Given the description of an element on the screen output the (x, y) to click on. 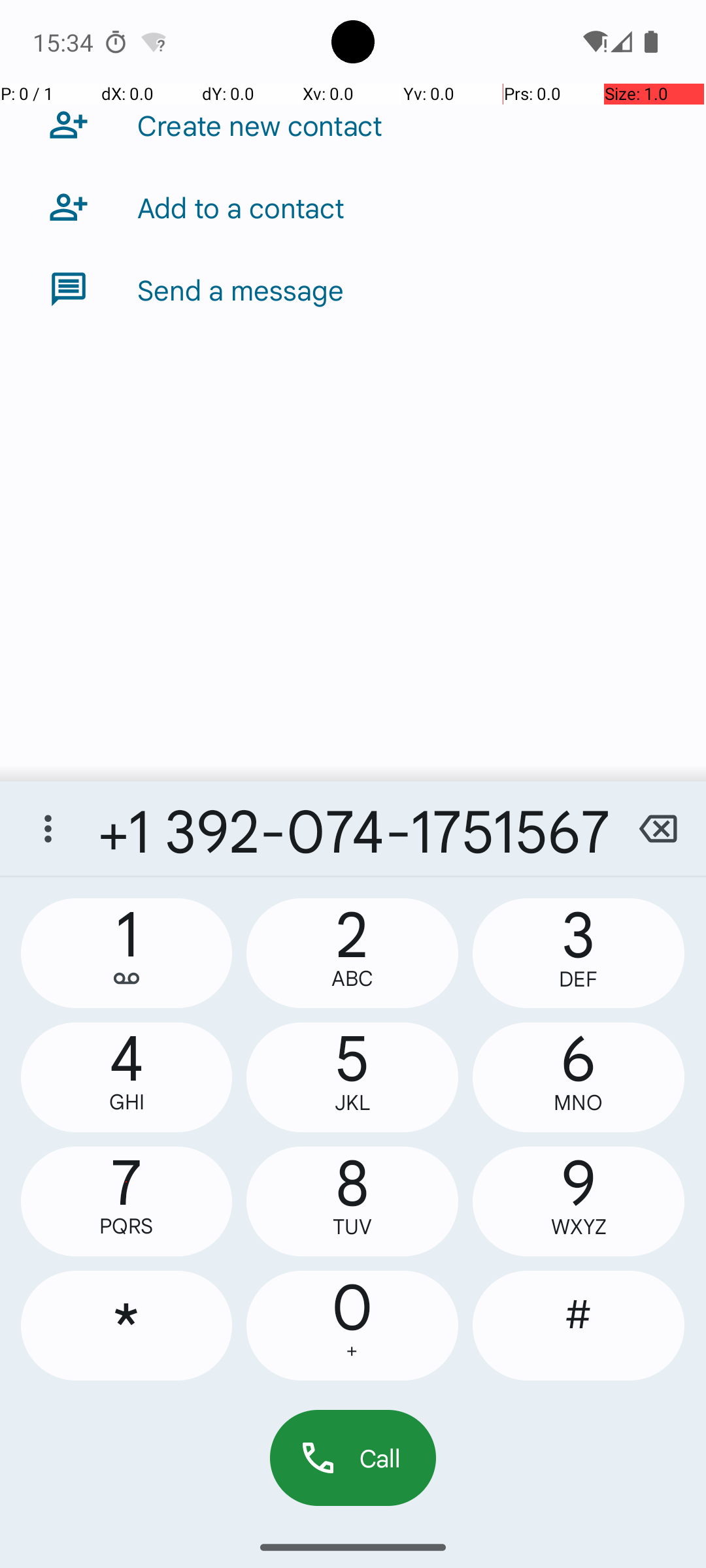
+1 392-074-1751567 Element type: android.widget.EditText (352, 828)
